Given the description of an element on the screen output the (x, y) to click on. 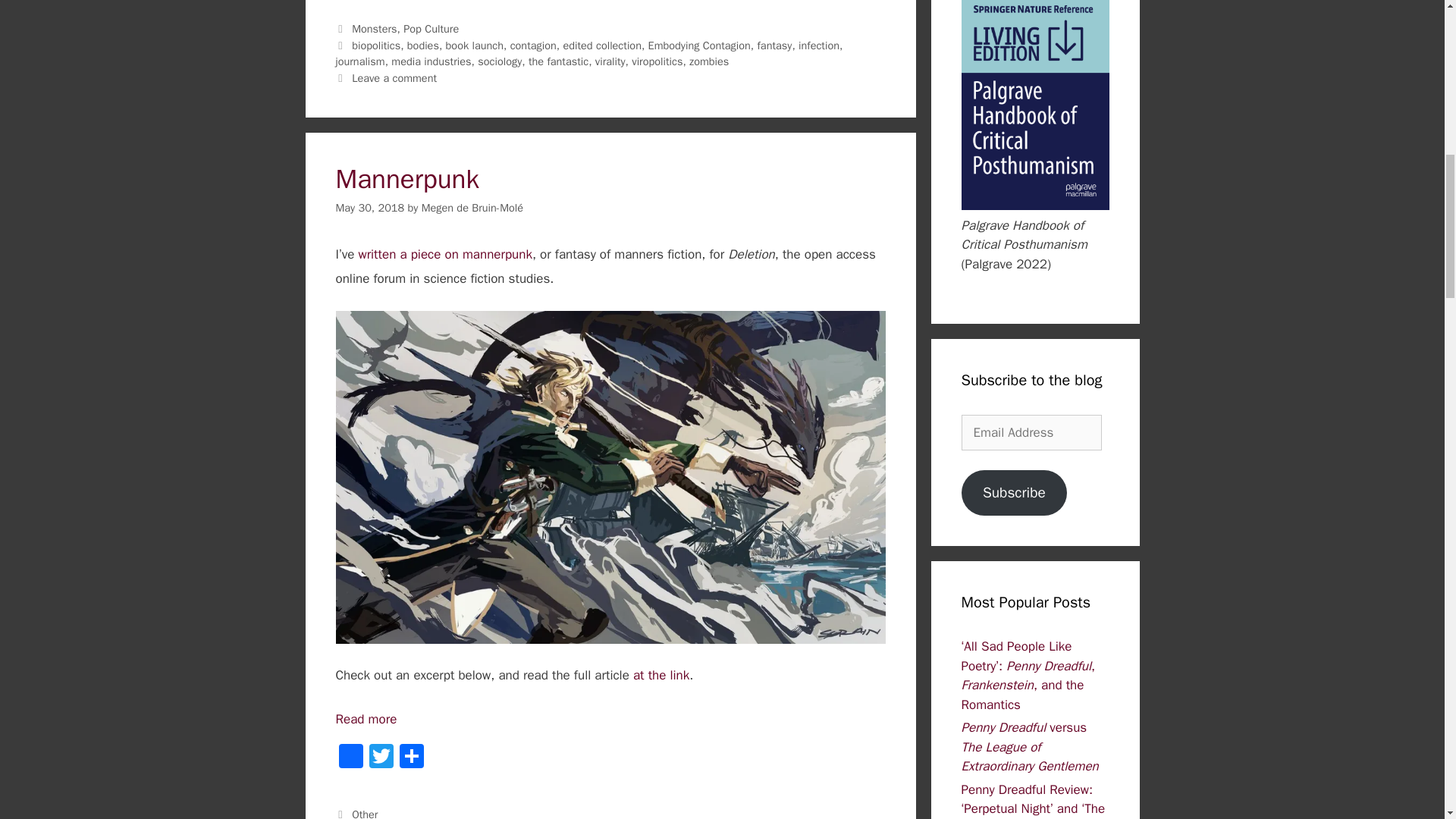
at the link (660, 675)
infection (818, 45)
contagion (533, 45)
sociology (499, 60)
book launch (474, 45)
Twitter (380, 758)
Read more (365, 719)
Mannerpunk (406, 178)
media industries (430, 60)
viropolitics (656, 60)
